Given the description of an element on the screen output the (x, y) to click on. 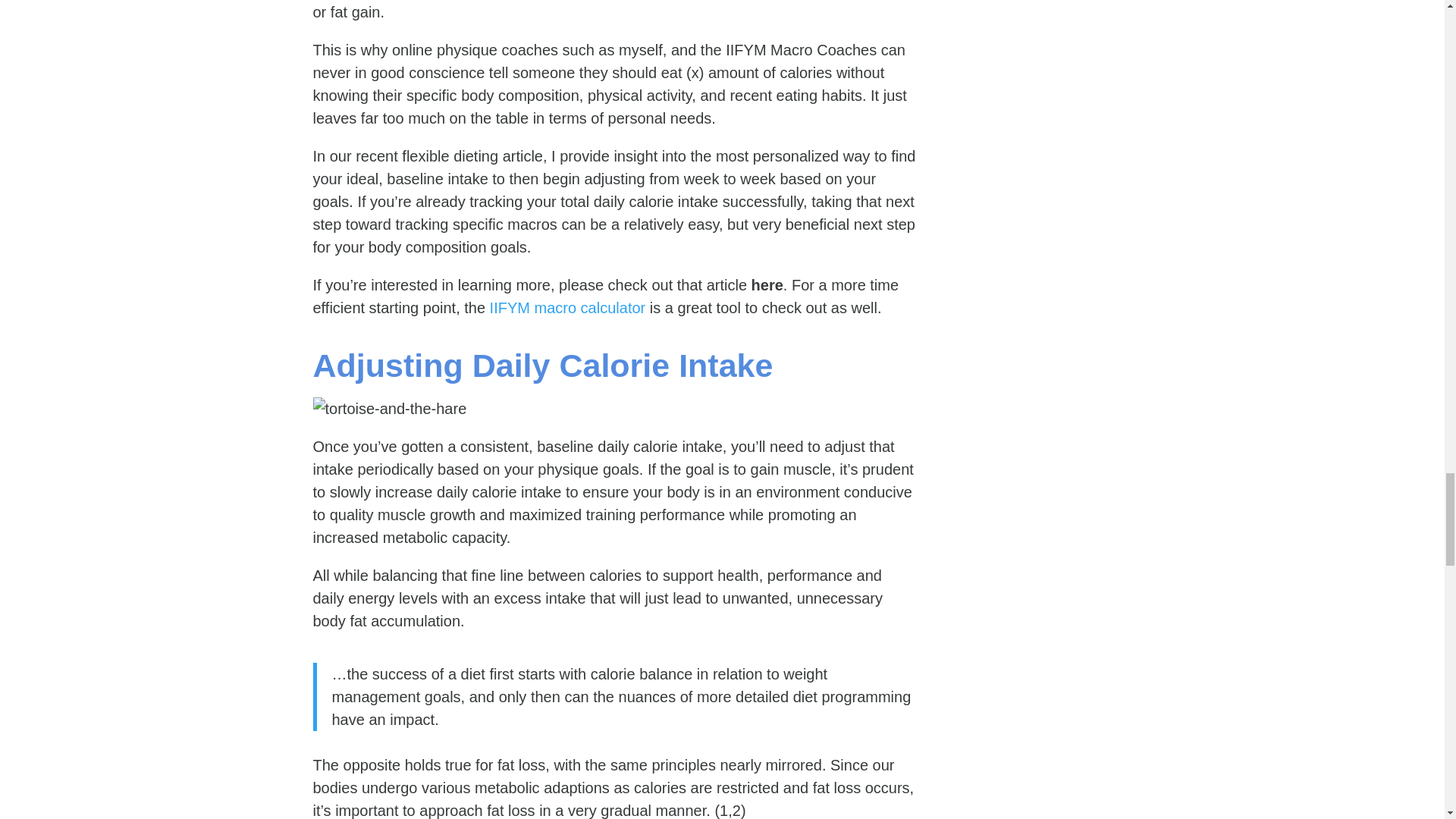
tortoise-and-the-hare (389, 408)
IIFYM macro calculator (567, 307)
